Given the description of an element on the screen output the (x, y) to click on. 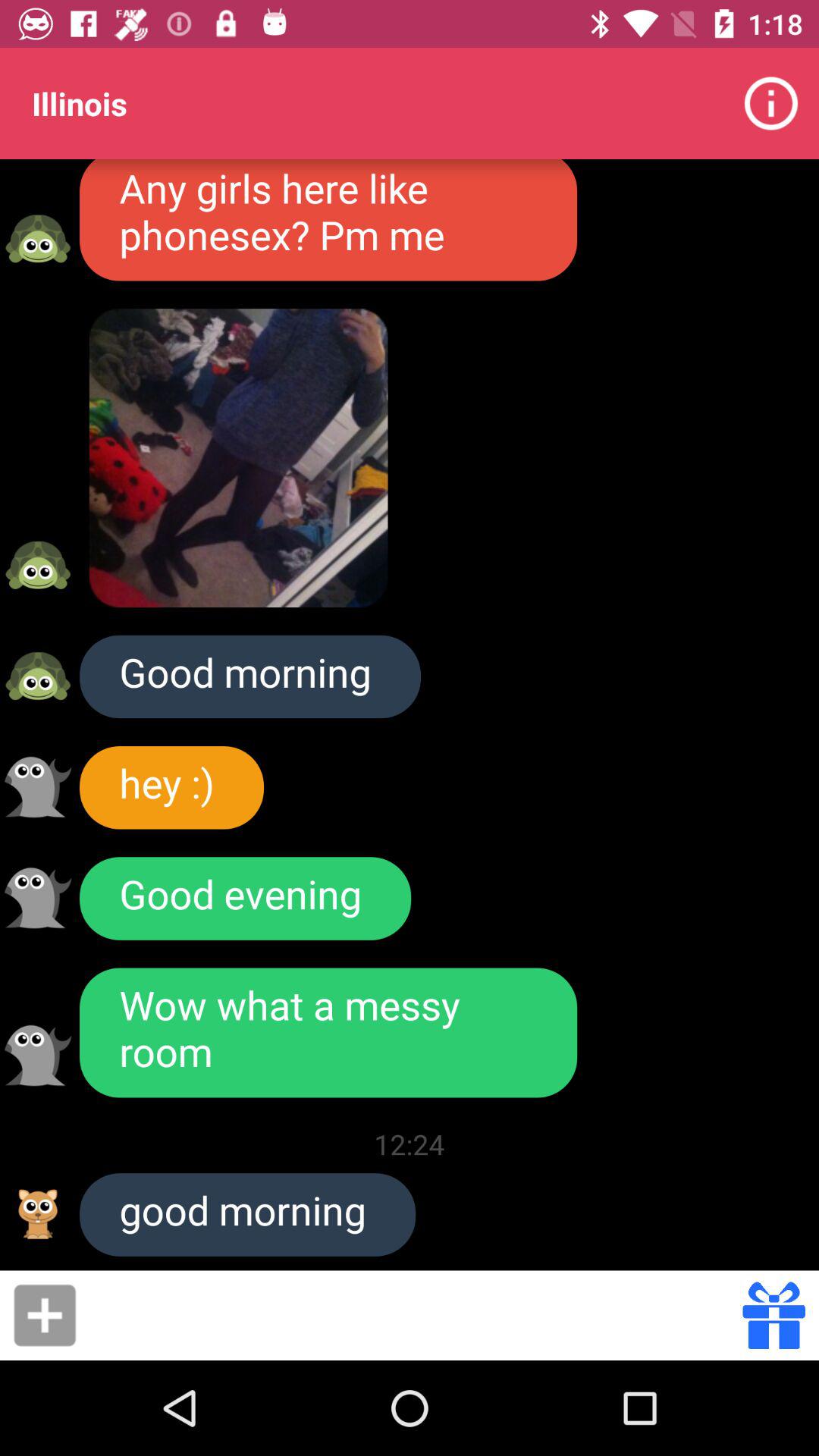
choose the icon below the illinois  icon (328, 219)
